Given the description of an element on the screen output the (x, y) to click on. 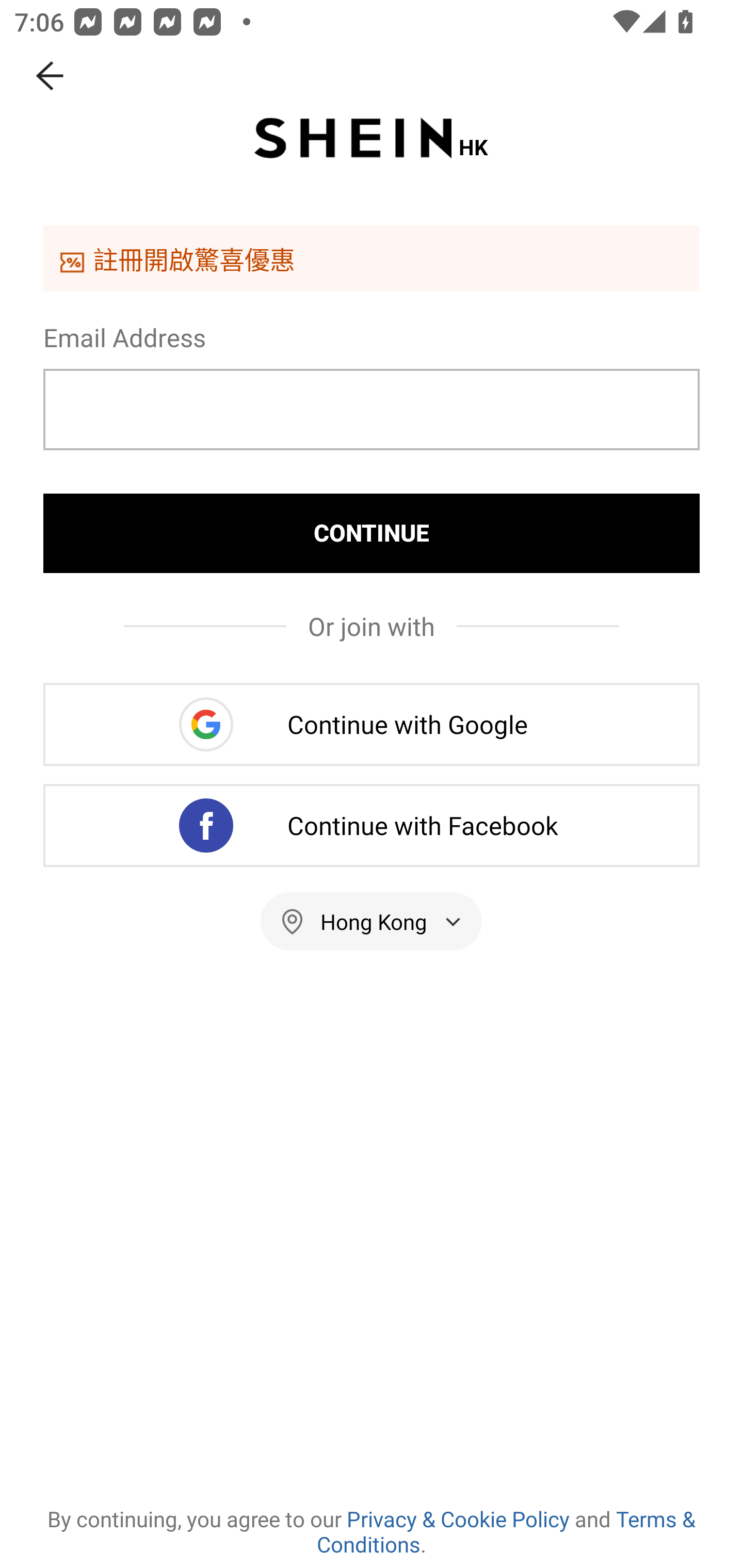
CLOSE (50, 75)
CONTINUE (371, 532)
Continue with Google (371, 724)
Continue with Facebook (371, 825)
Hong Kong (371, 921)
